Given the description of an element on the screen output the (x, y) to click on. 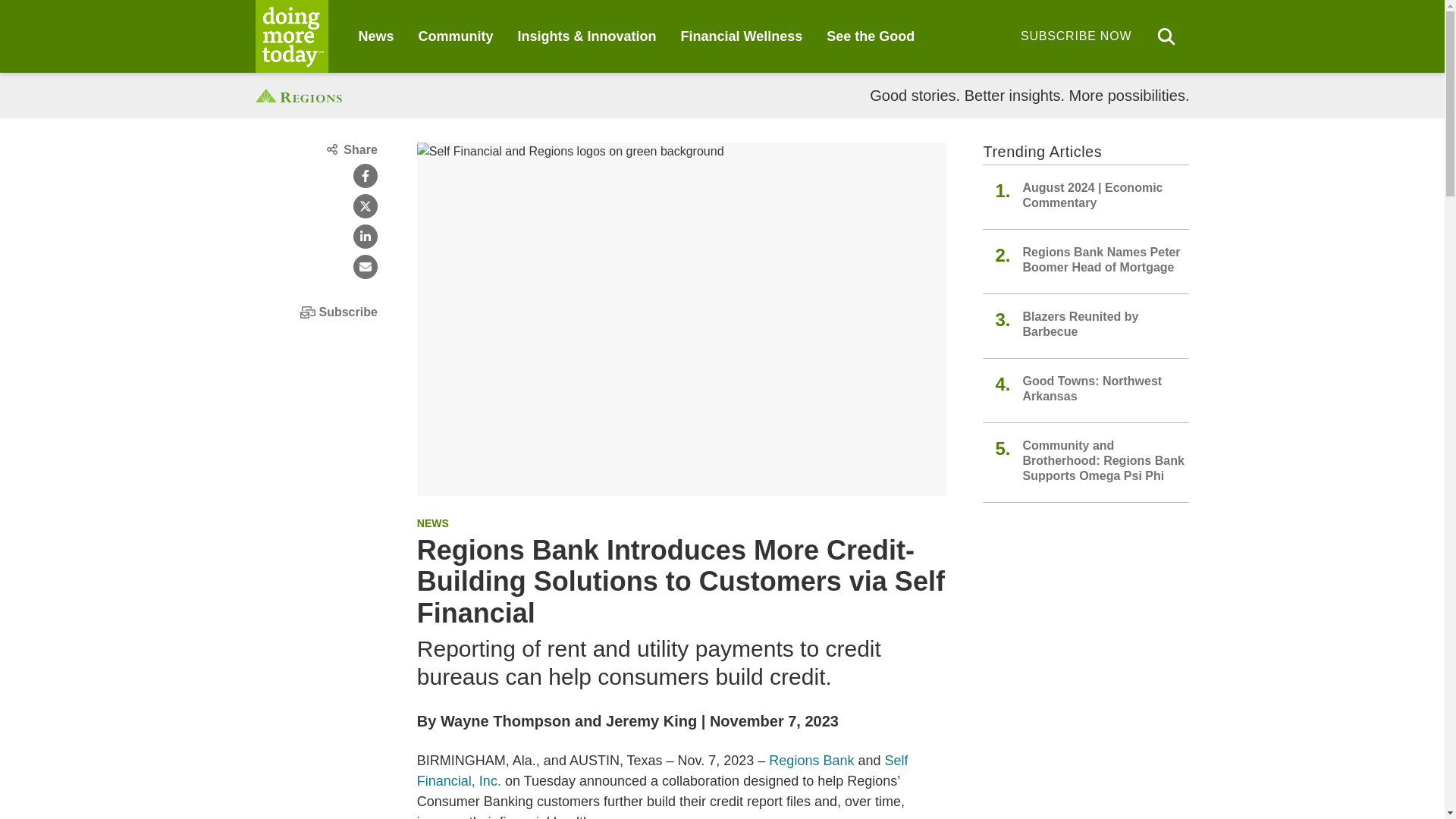
Subscribe (315, 312)
Share on Facebook (365, 175)
See the Good (870, 35)
NEWS (432, 522)
Share on X (365, 206)
Self Financial, Inc. (662, 770)
News (375, 35)
Share via Email (365, 266)
Share via Email (365, 266)
